Given the description of an element on the screen output the (x, y) to click on. 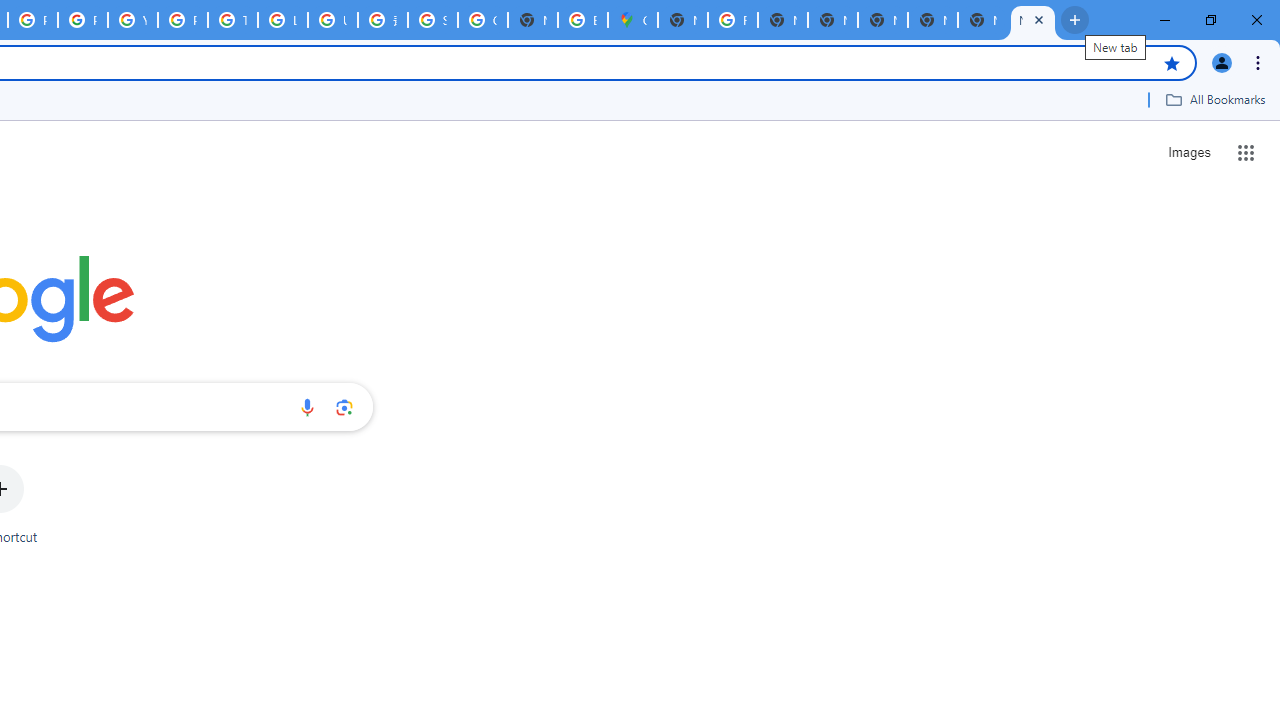
Google Maps (632, 20)
Search by voice (307, 407)
New Tab (932, 20)
New Tab (982, 20)
New Tab (1032, 20)
Search by image (344, 407)
Search for Images  (1188, 152)
